Given the description of an element on the screen output the (x, y) to click on. 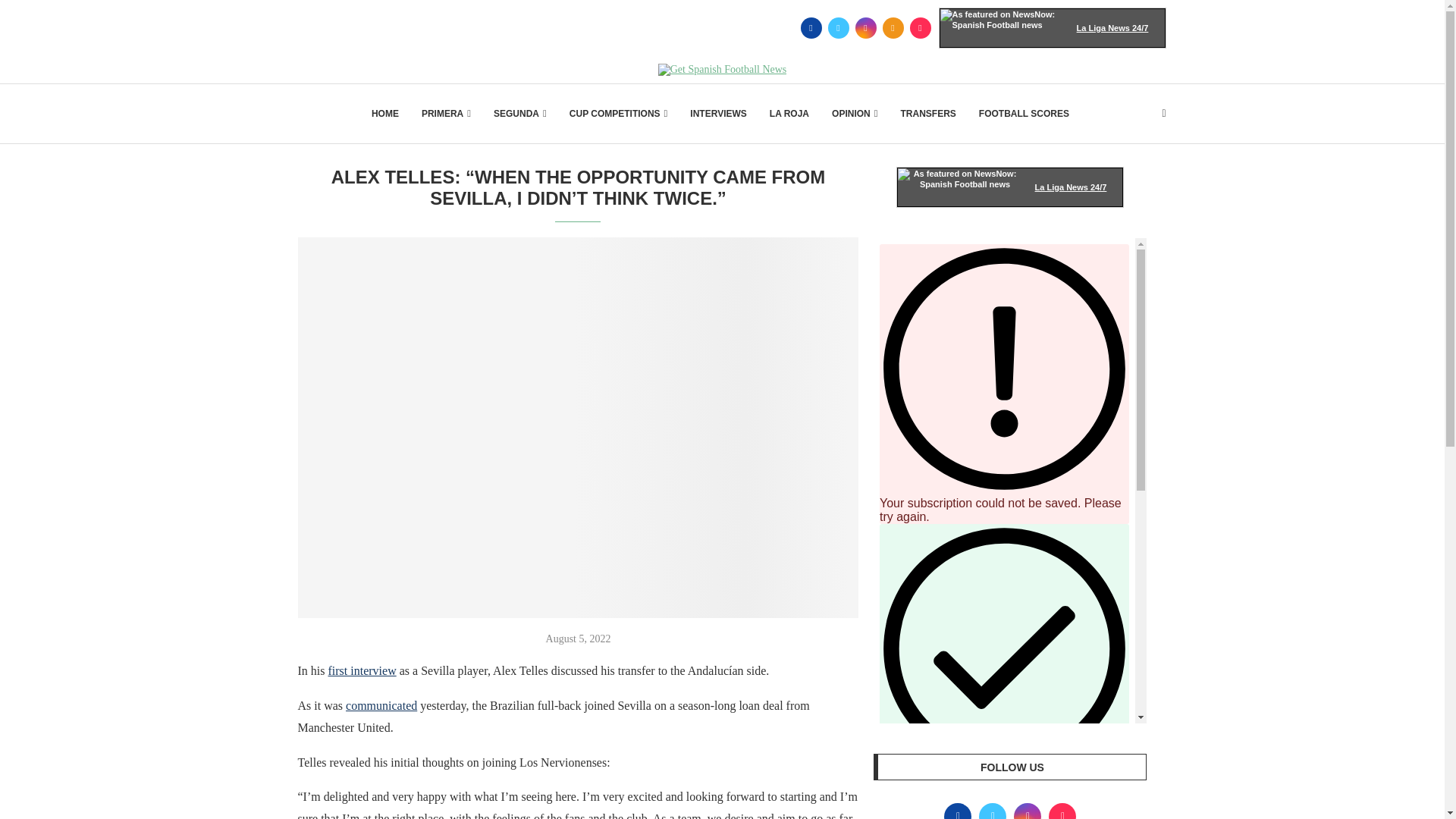
Click here for more La Liga news from NewsNow (1052, 27)
SEGUNDA (520, 113)
Click here for more La Liga news from NewsNow (1010, 187)
PRIMERA (446, 113)
